Given the description of an element on the screen output the (x, y) to click on. 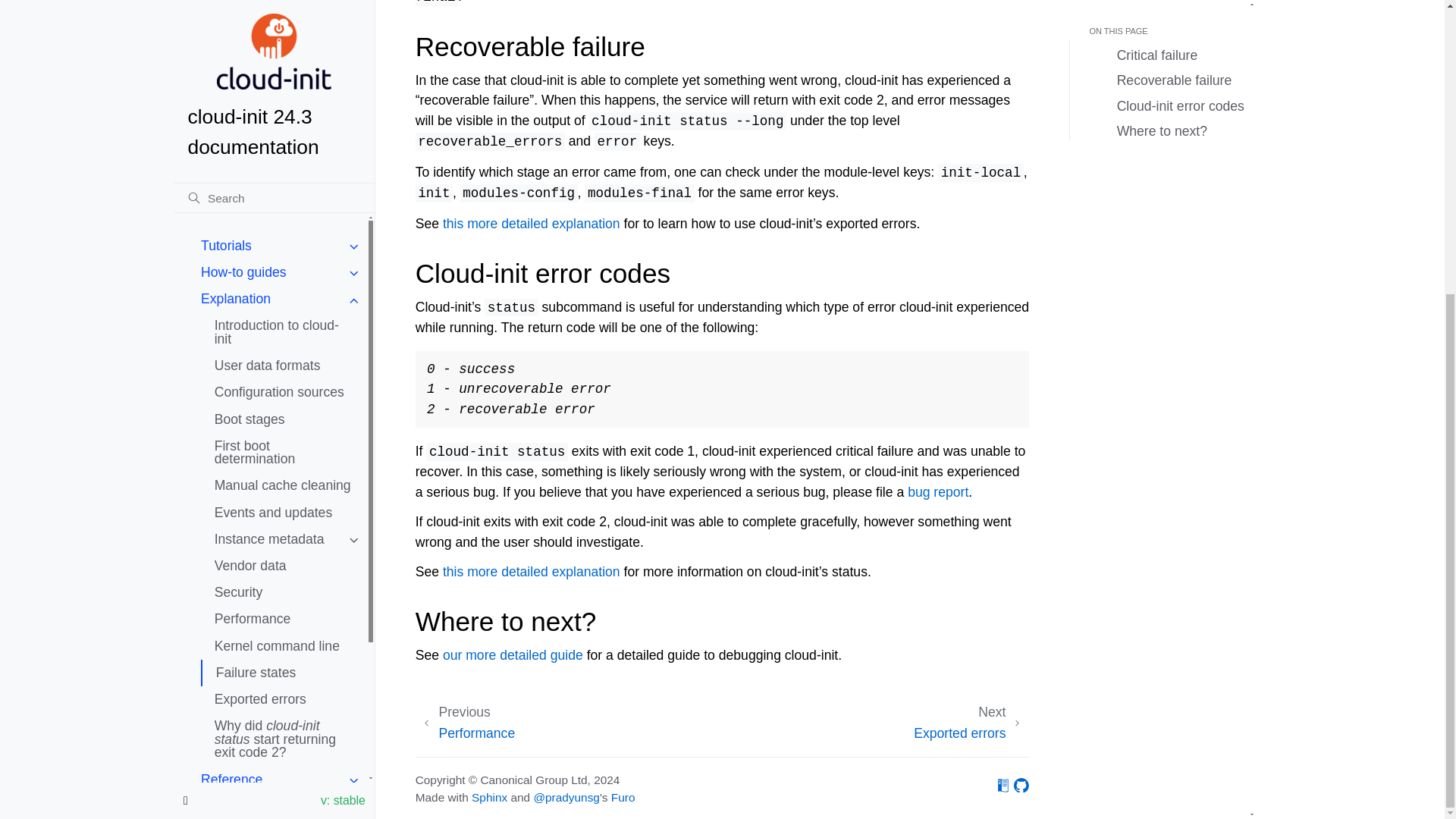
Failure states (284, 221)
Why did cloud-init status start returning exit code 2? (283, 287)
Reference (276, 328)
Events and updates (283, 61)
First boot determination (283, 11)
Security (283, 140)
Instance metadata (283, 88)
Performance (283, 168)
Exported errors (283, 248)
Manual cache cleaning (283, 35)
